Given the description of an element on the screen output the (x, y) to click on. 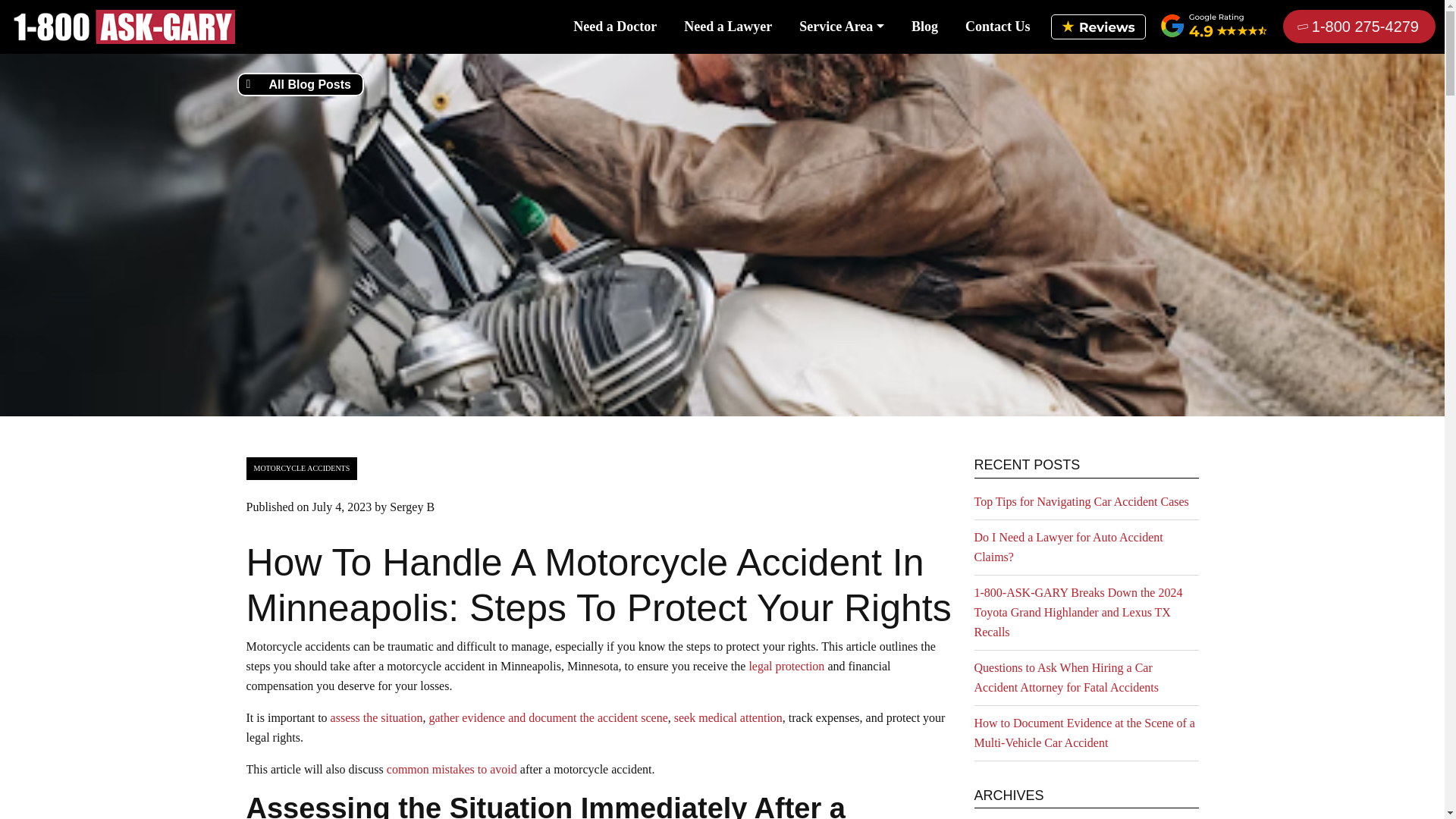
Need a Doctor (614, 26)
Need a Lawyer (727, 26)
1-800 275-4279 (1358, 26)
Contact Us (997, 26)
Need a Doctor (614, 26)
Blog (924, 26)
Need a Lawyer (727, 26)
Service Area (841, 26)
Service Area (841, 26)
